Given the description of an element on the screen output the (x, y) to click on. 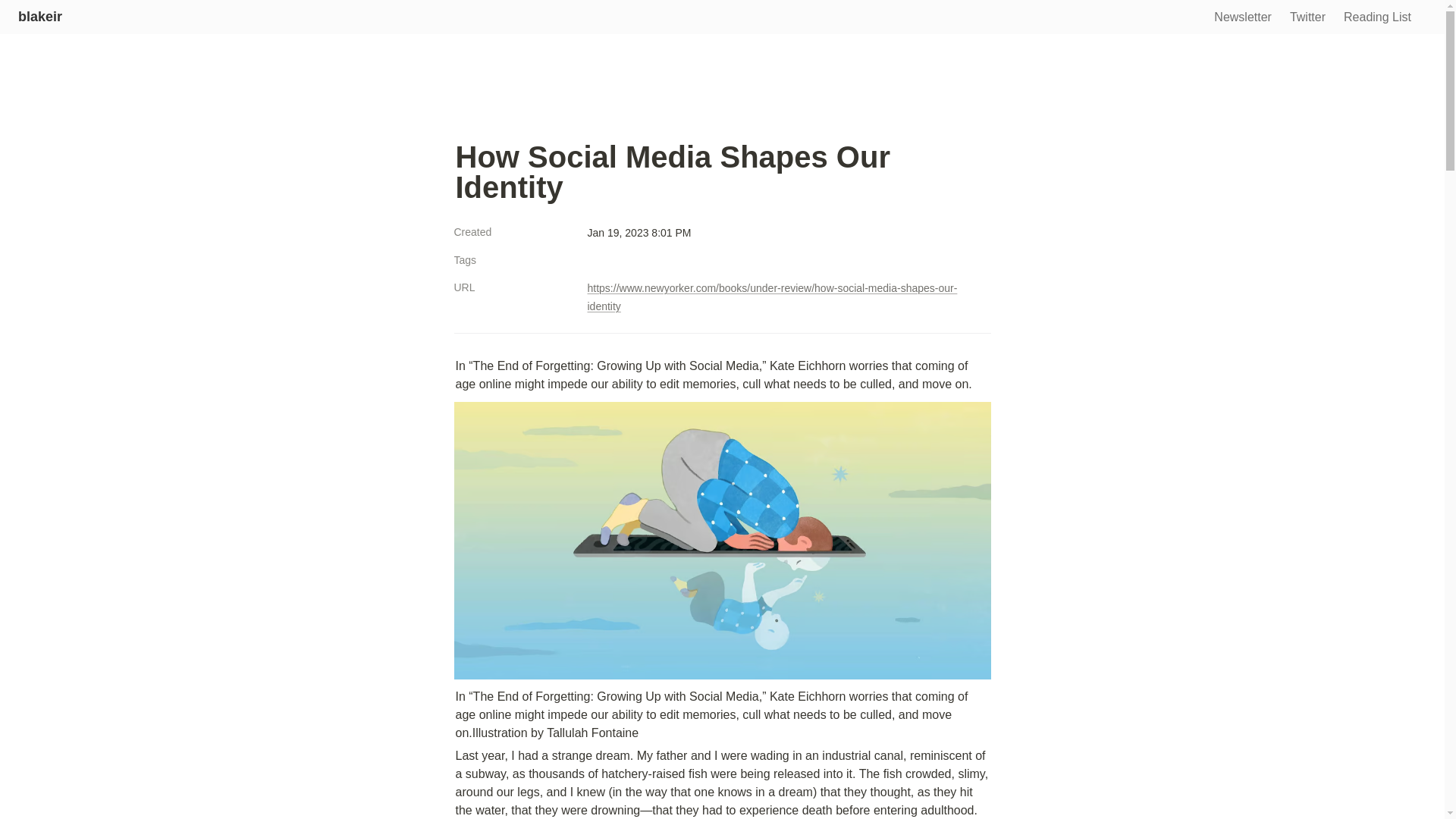
Reading List (1378, 18)
blakeir (39, 17)
Newsletter (1243, 18)
Twitter (1308, 18)
